Given the description of an element on the screen output the (x, y) to click on. 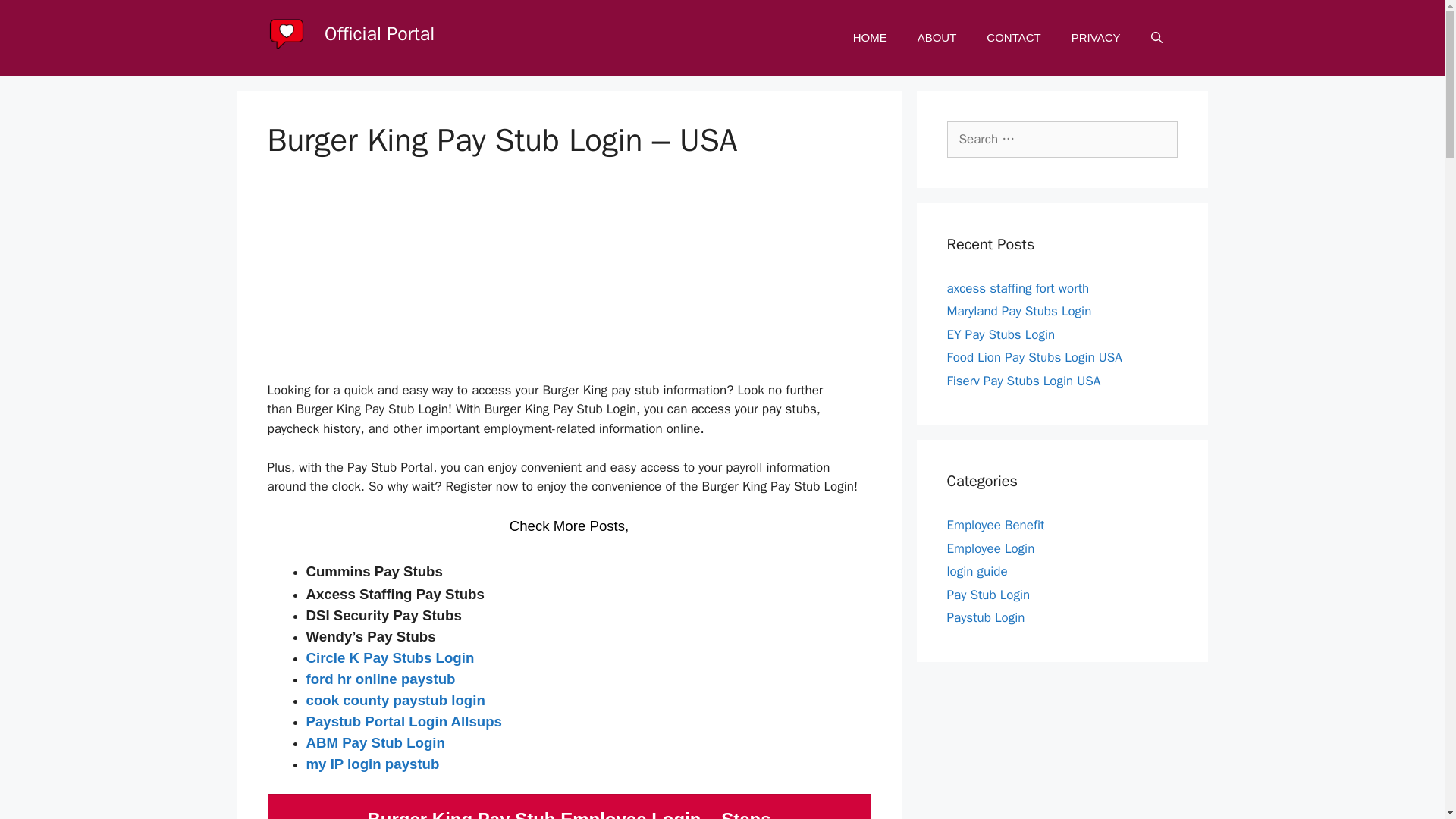
Fiserv Pay Stubs Login USA (1023, 381)
Employee Login (989, 547)
Maryland Pay Stubs Login (1018, 311)
login guide (976, 571)
CONTACT (1013, 37)
ABM Pay Stub Login (375, 743)
cook county paystub login (394, 700)
Cummins Pay Stubs (373, 571)
Food Lion Pay Stubs Login USA (1033, 357)
PRIVACY (1096, 37)
Paystub Login (985, 617)
Employee Benefit (994, 524)
DSI Security Pay Stubs (383, 615)
ford hr online paystub (380, 679)
Official Portal (378, 33)
